Given the description of an element on the screen output the (x, y) to click on. 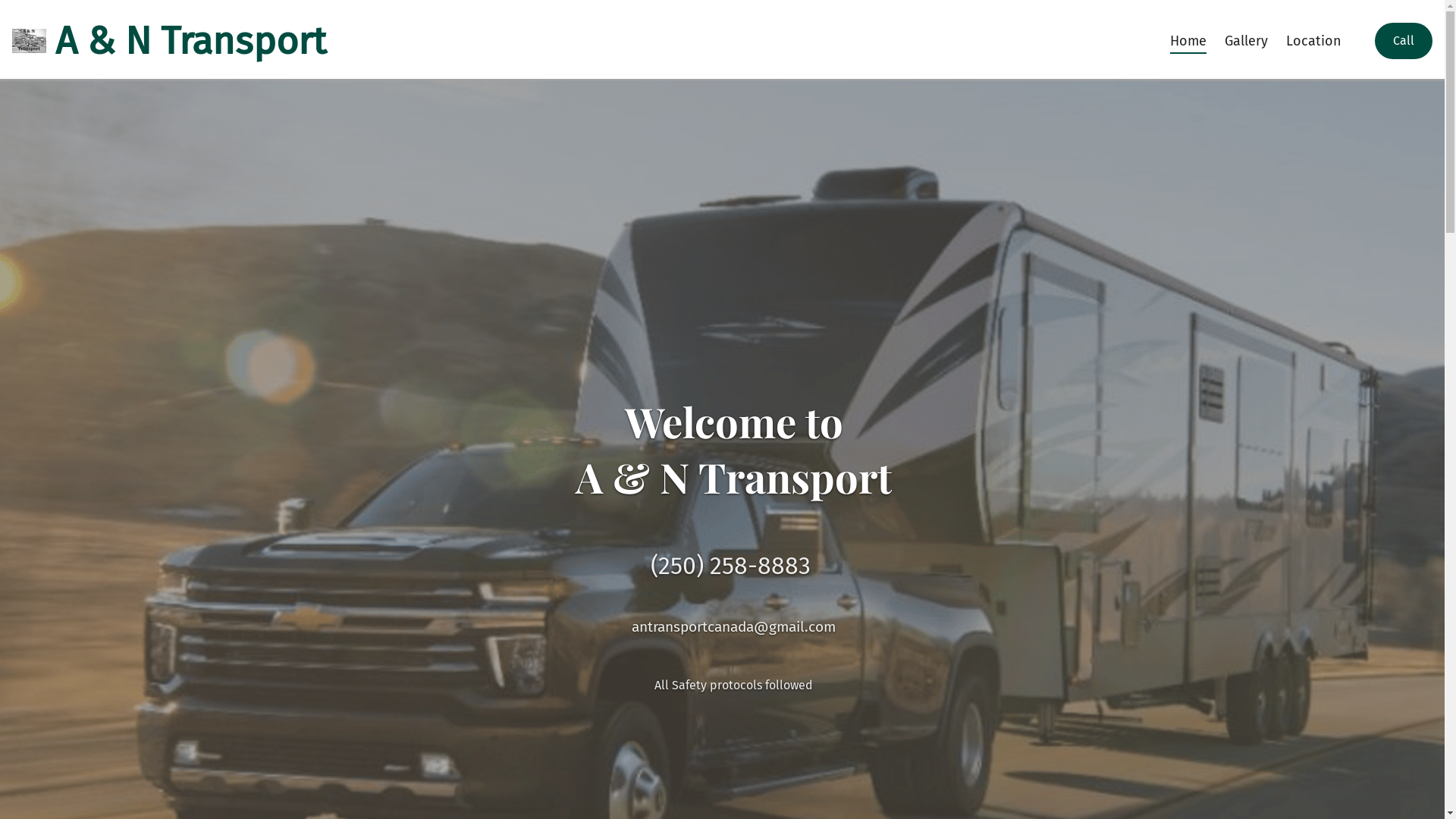
A & N Transport Element type: text (169, 40)
Call Element type: text (1403, 40)
Home Element type: text (1188, 40)
Location Element type: text (1313, 40)
Gallery Element type: text (1246, 40)
